Given the description of an element on the screen output the (x, y) to click on. 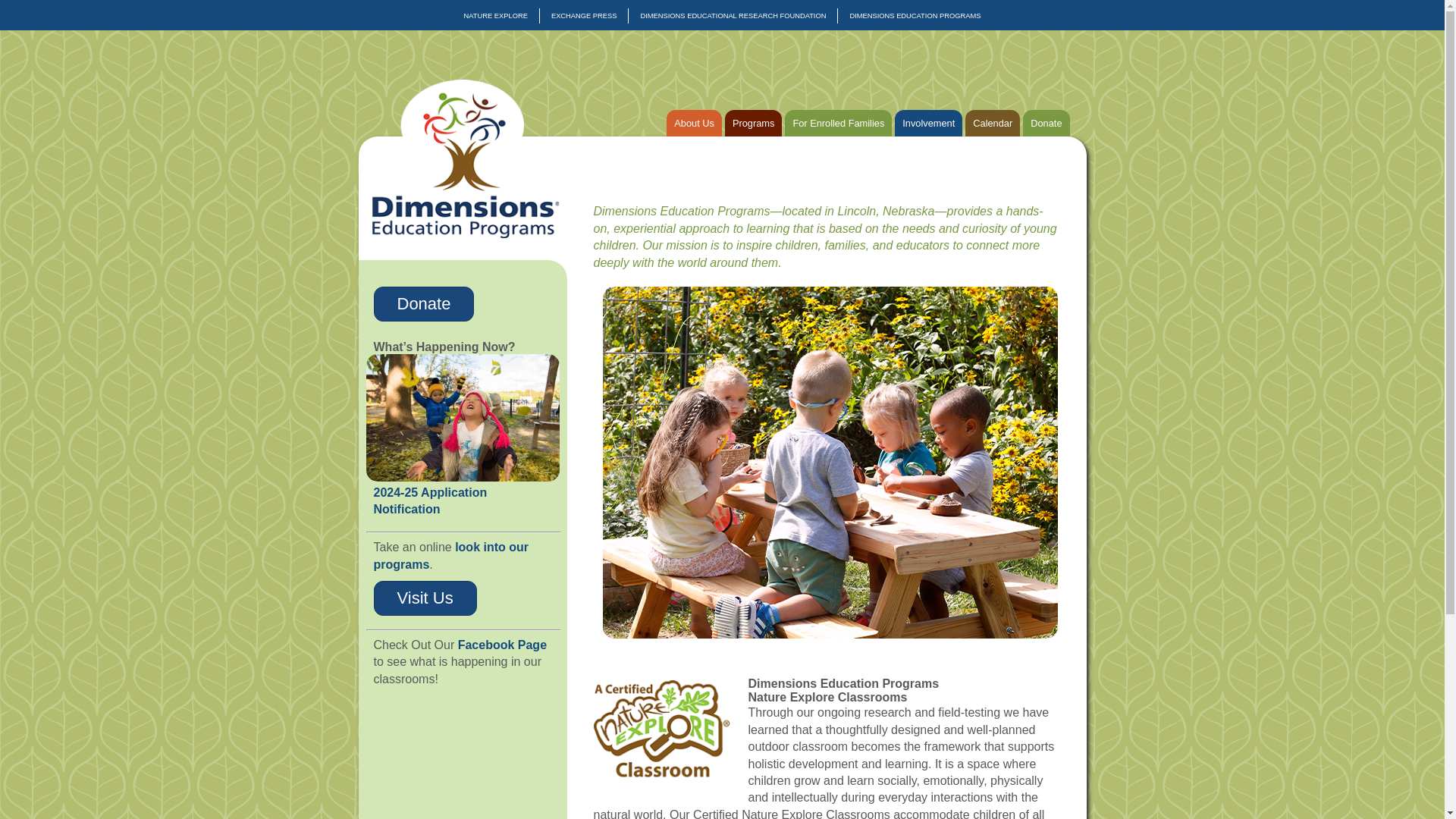
Donate (423, 303)
Calendar (992, 122)
DIMENSIONS EDUCATIONAL RESEARCH FOUNDATION (733, 15)
NATURE EXPLORE (496, 15)
Facebook Page (502, 644)
Donate (1045, 122)
DIMENSIONS EDUCATION PROGRAMS (914, 15)
Visit Us (424, 597)
About Us (694, 122)
For Enrolled Families (837, 122)
Programs (753, 122)
Dimensions Education Programs (459, 233)
Involvement (928, 122)
look into our programs (450, 555)
2024-25 Application Notification (429, 500)
